Given the description of an element on the screen output the (x, y) to click on. 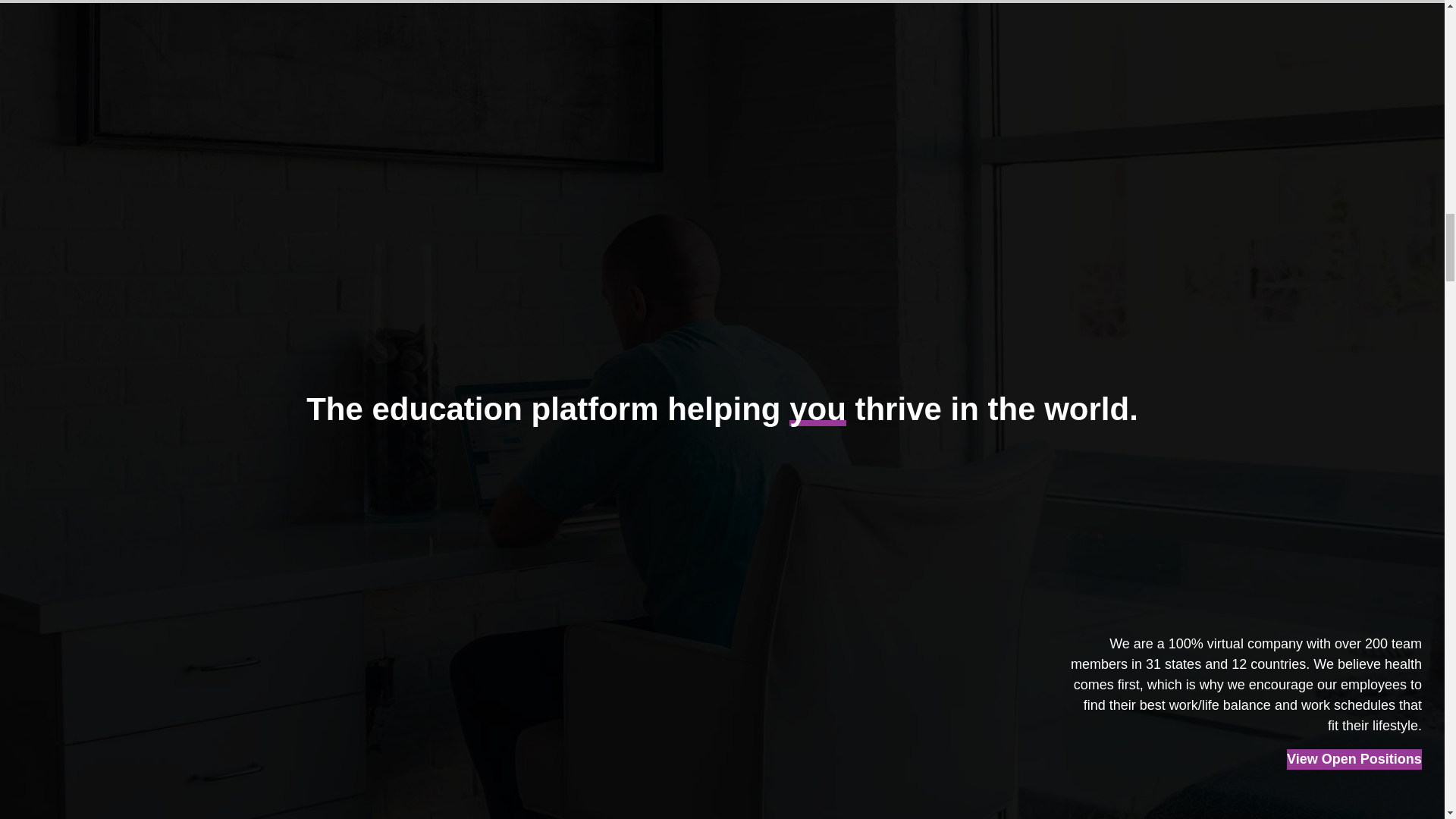
View Open Positions (1354, 759)
